Given the description of an element on the screen output the (x, y) to click on. 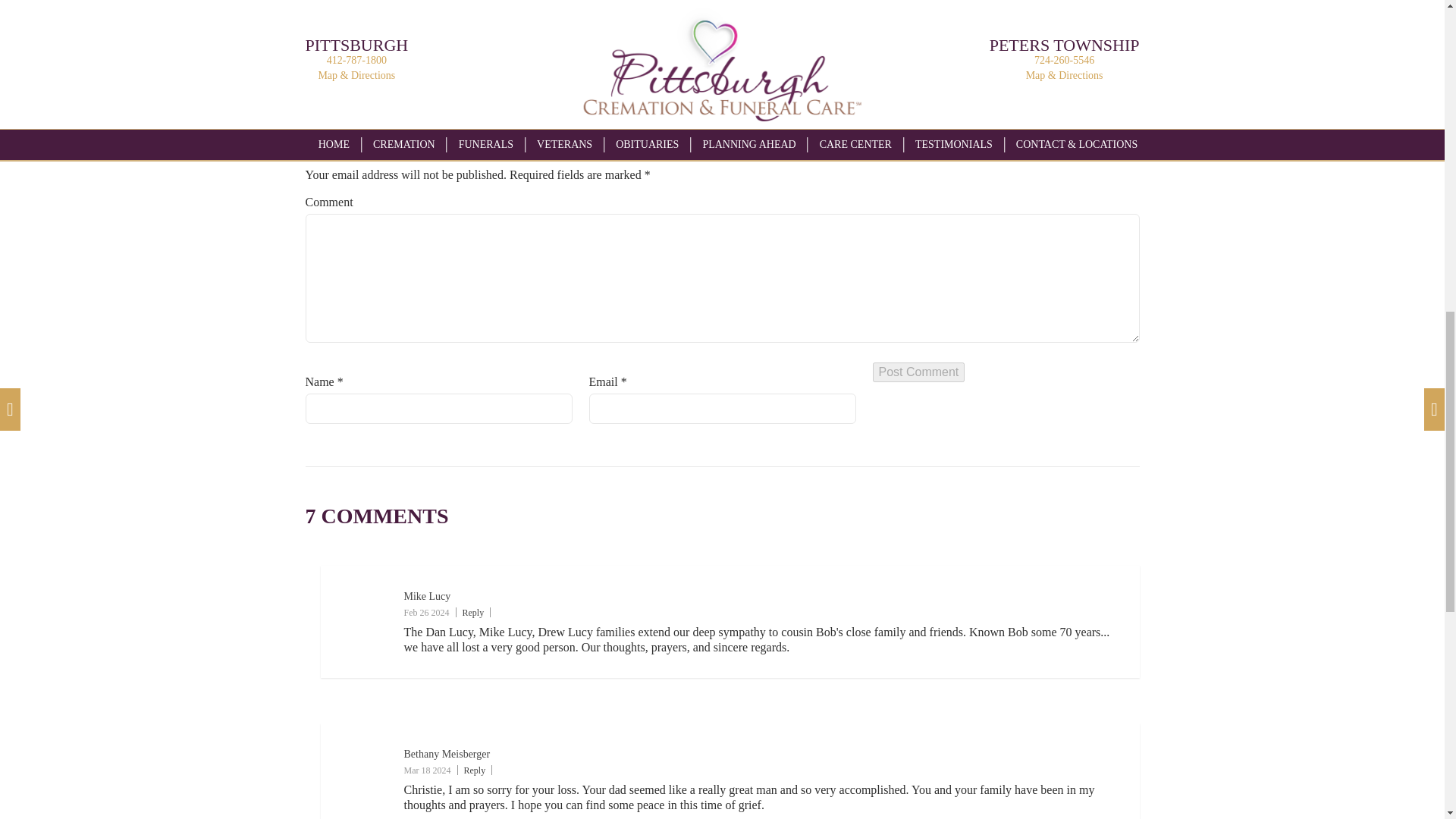
Mike Lucy (426, 595)
Reply (473, 612)
Facebook (598, 42)
Post Comment (917, 372)
Email (654, 42)
Bethany Meisberger (446, 754)
Twitter (542, 42)
Post Comment (917, 372)
Reply (475, 769)
